Given the description of an element on the screen output the (x, y) to click on. 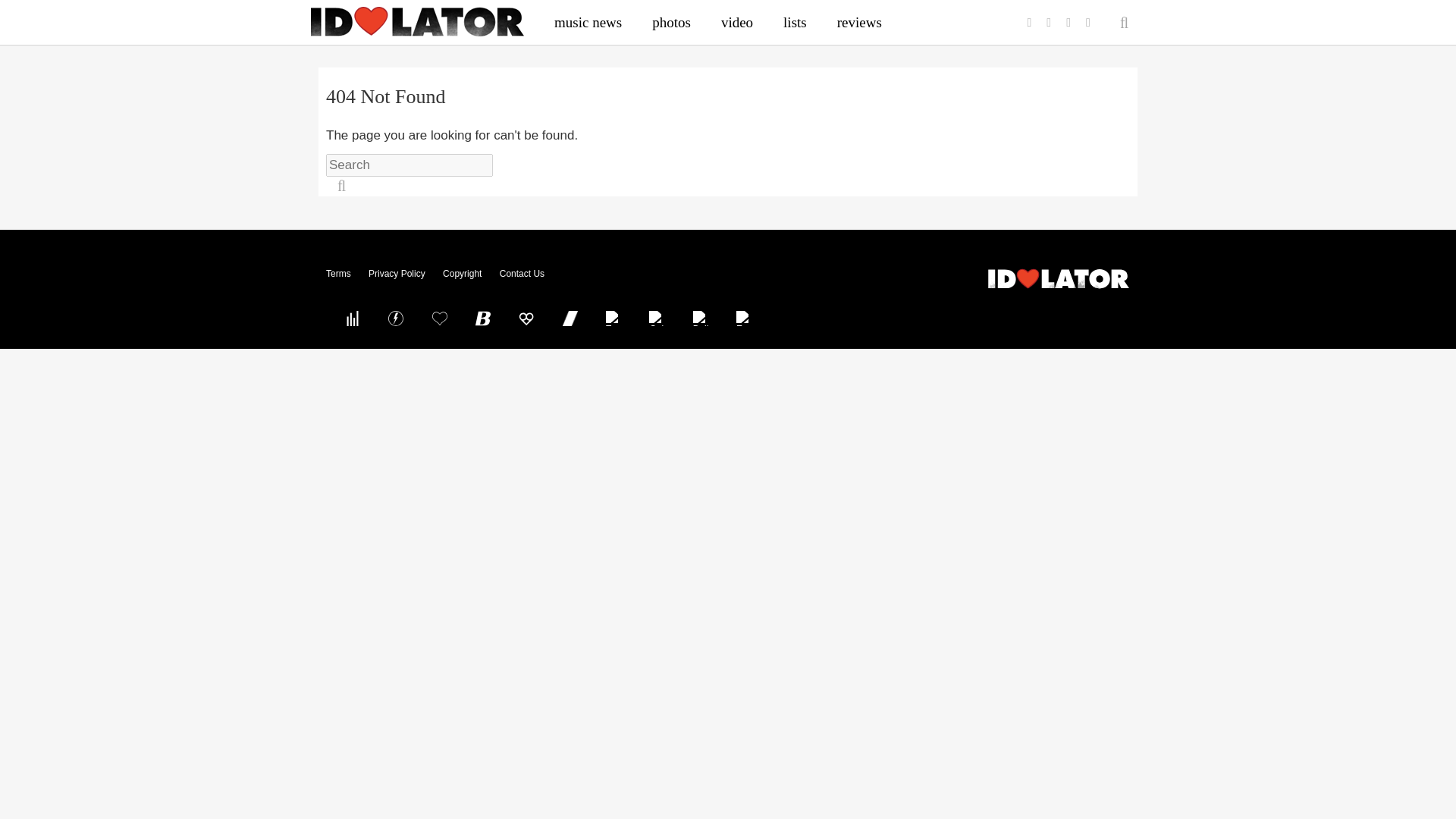
Post Fun (439, 318)
Pure Volume (351, 318)
BleacherBreaker (483, 318)
Daily Funny (699, 318)
Taco Relish (612, 318)
reviews (859, 22)
Buzznet (395, 318)
Hooch (526, 318)
Contact Us (521, 273)
Terms (338, 273)
